Given the description of an element on the screen output the (x, y) to click on. 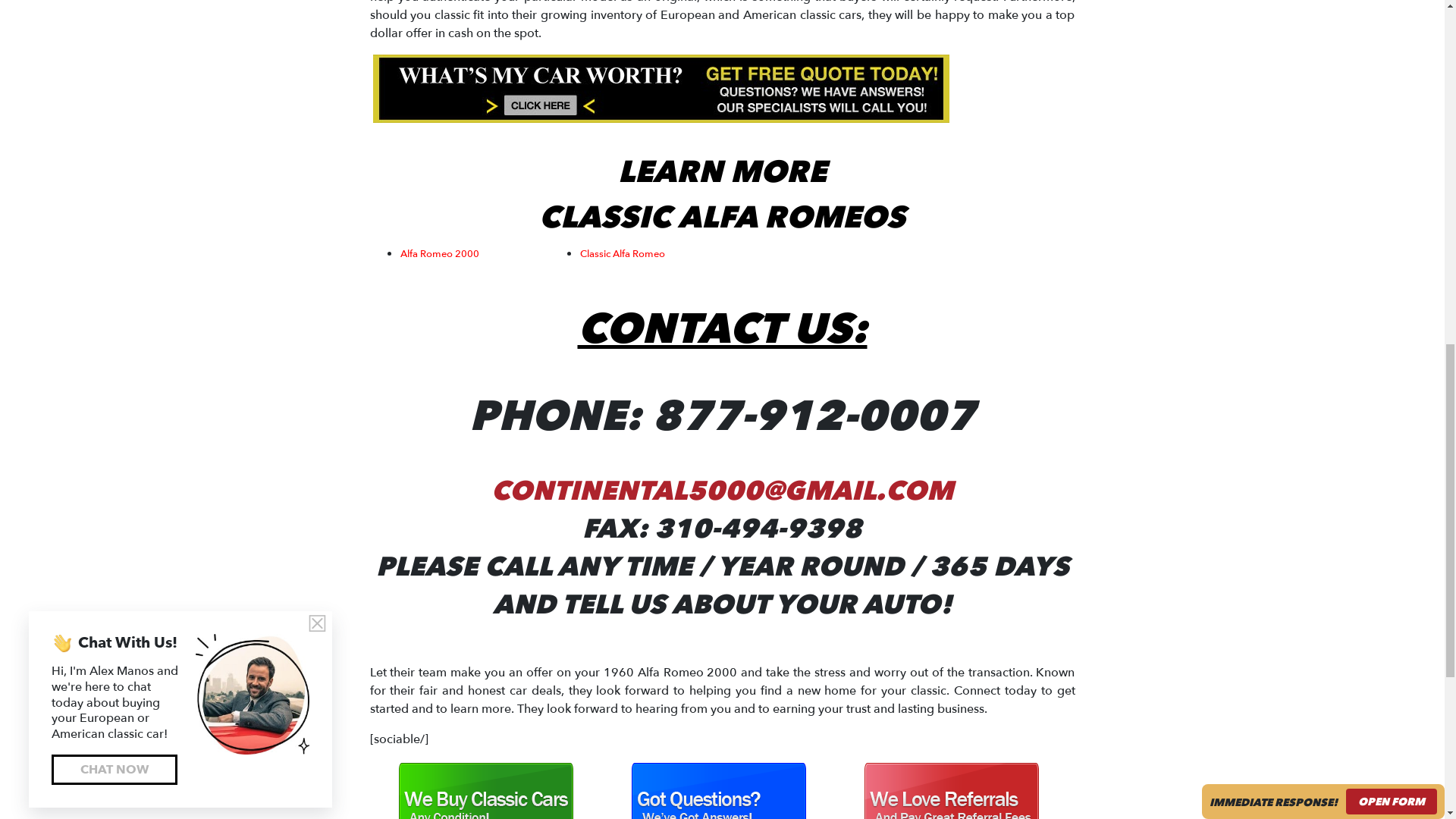
Classic Alfa Romeo (622, 252)
Alfa Romeo 2000 (439, 252)
CHAT NOW (113, 186)
